Given the description of an element on the screen output the (x, y) to click on. 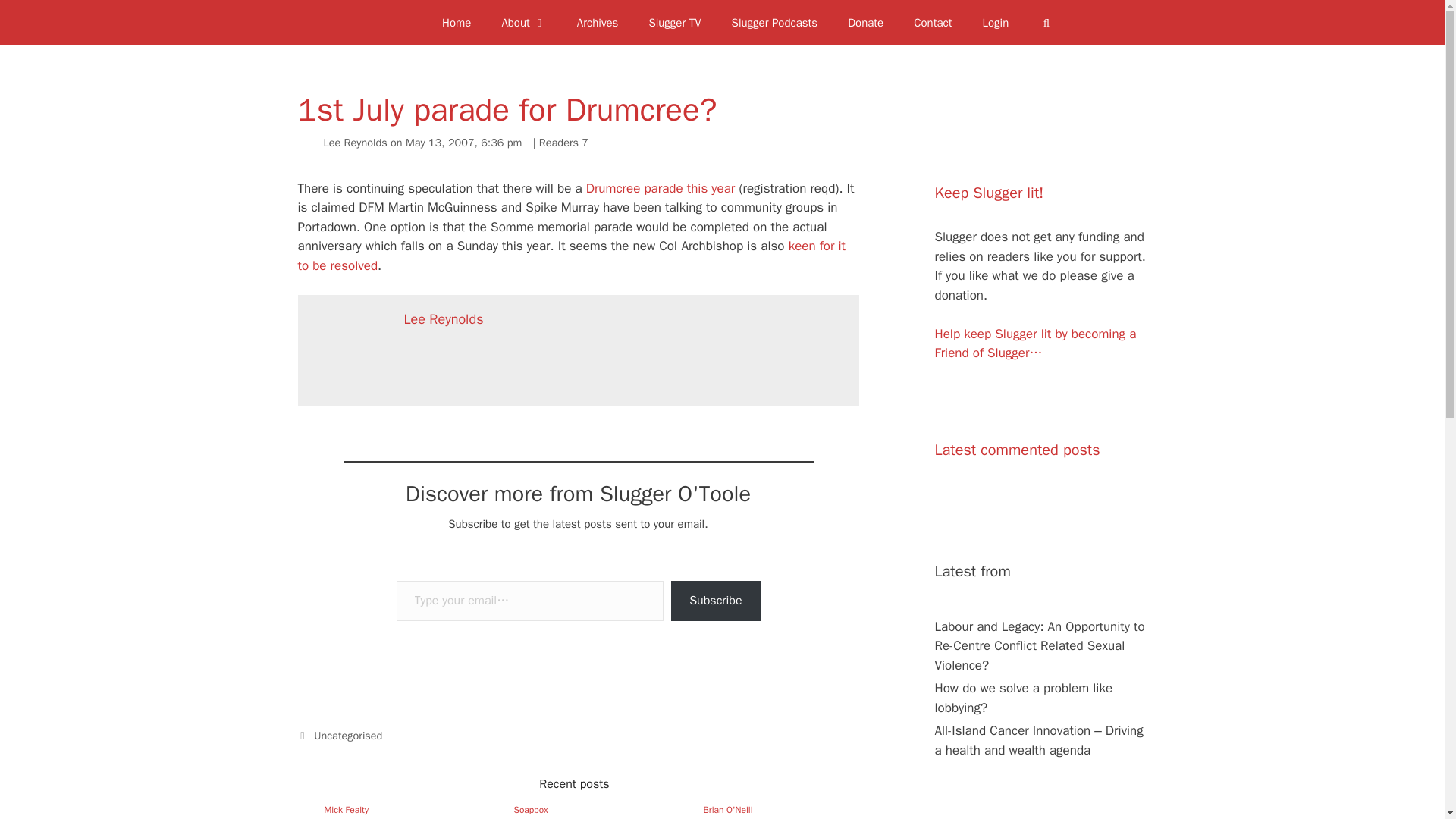
Slugger Podcasts (774, 22)
keen for it to be resolved (571, 255)
Lee Reynolds (355, 142)
Home (456, 22)
Slugger O'Toole (397, 22)
Please fill in this field. (529, 600)
Drumcree parade this year  (662, 188)
Contact (932, 22)
Archives (597, 22)
Login (996, 22)
